Given the description of an element on the screen output the (x, y) to click on. 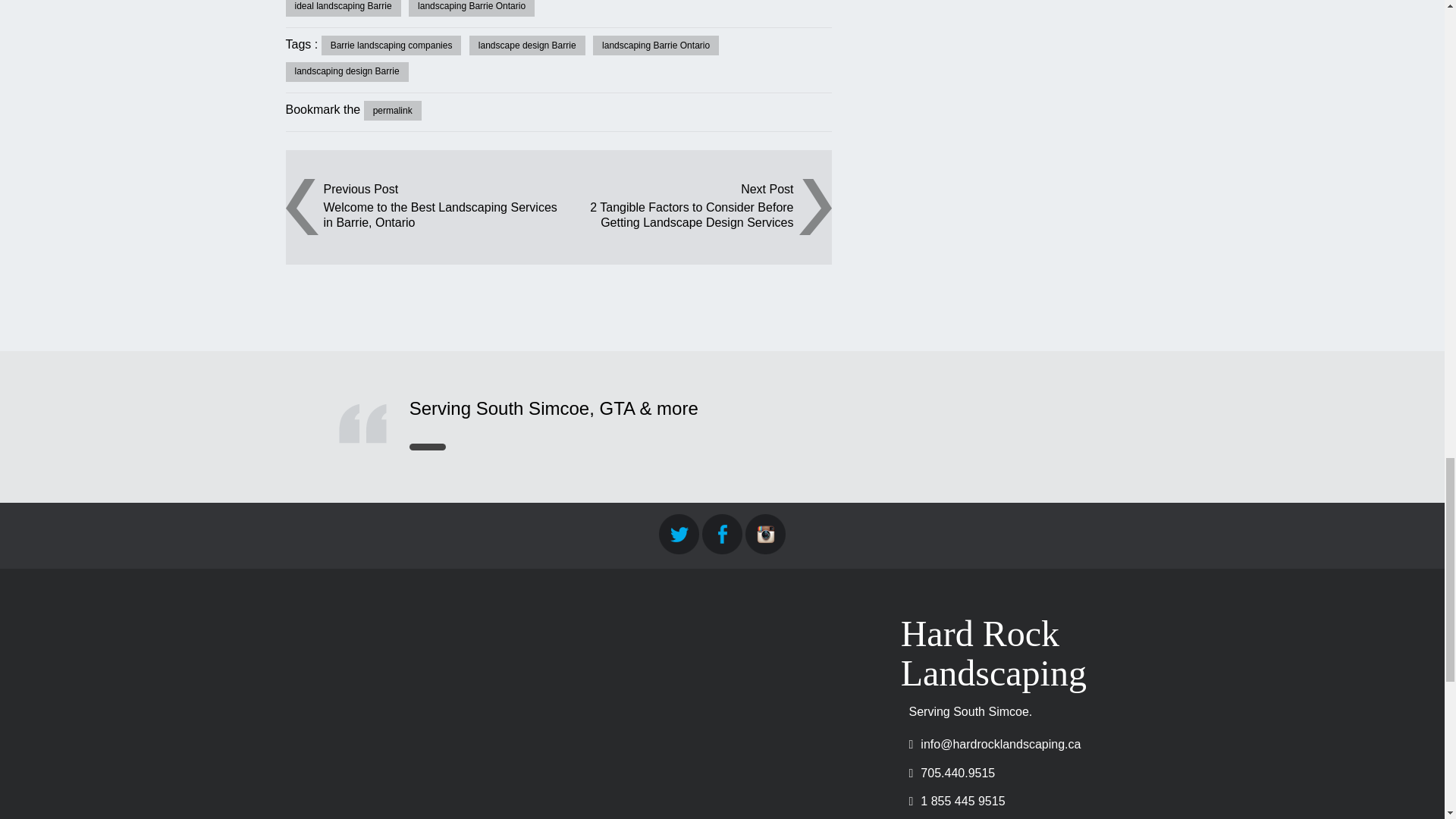
landscaping Barrie Ontario (655, 45)
Welcome to the Best Landscaping Services in Barrie, Ontario (440, 214)
landscaping Barrie Ontario (471, 8)
permalink (393, 110)
Barrie landscaping companies (391, 45)
ideal landscaping Barrie (342, 8)
landscaping design Barrie (346, 71)
landscape design Barrie (526, 45)
